Given the description of an element on the screen output the (x, y) to click on. 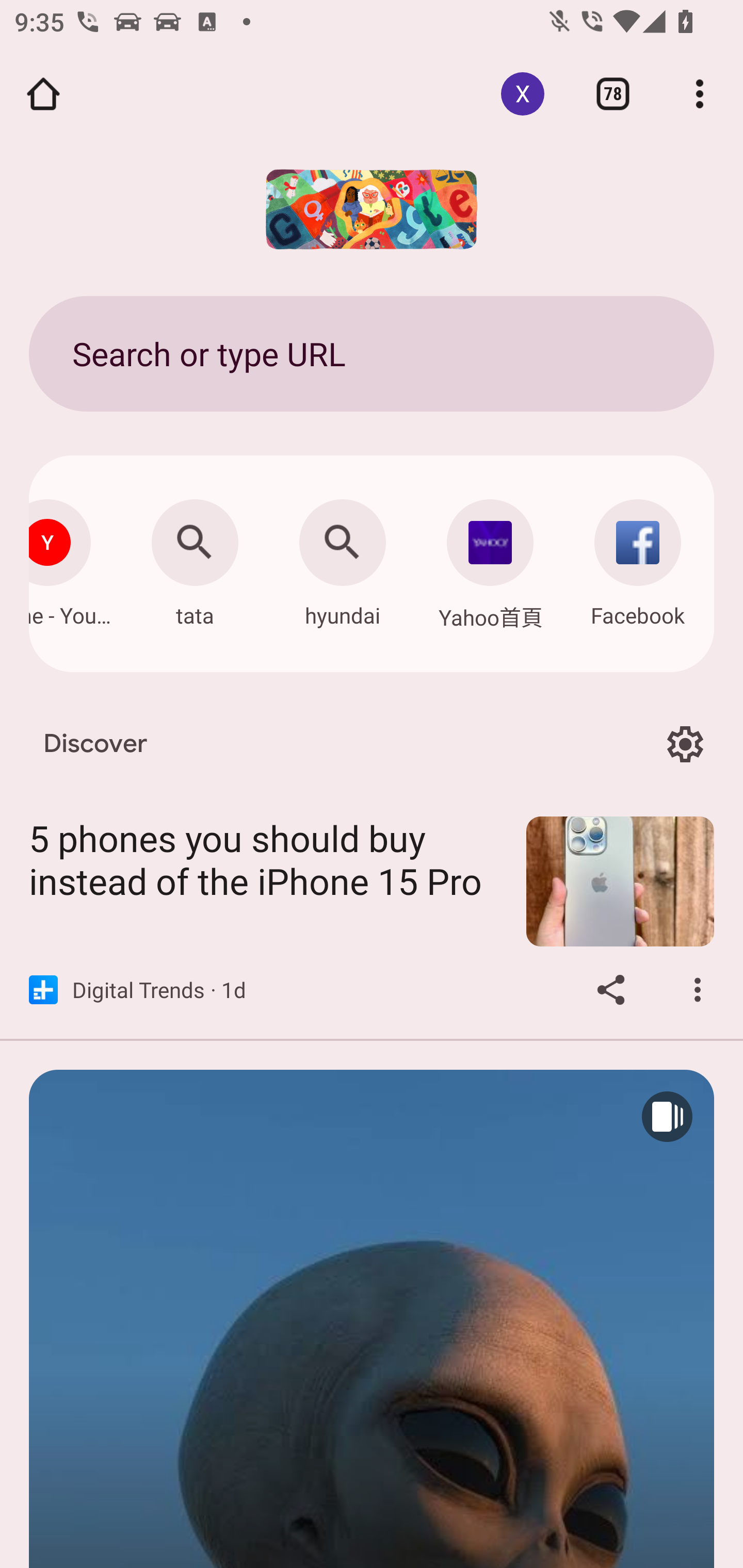
Open the home page (43, 93)
Switch or close tabs (612, 93)
Customize and control Google Chrome (699, 93)
Google doodle: International Women's Day 2024 (371, 209)
Search or type URL (371, 353)
Search: tata tata (194, 558)
Search: hyundai hyundai (342, 558)
Navigate: Yahoo首頁: hk.mobi.yahoo.com Yahoo首頁 (489, 558)
Navigate: Facebook: m.facebook.com Facebook (637, 558)
Options for Discover (684, 743)
